Given the description of an element on the screen output the (x, y) to click on. 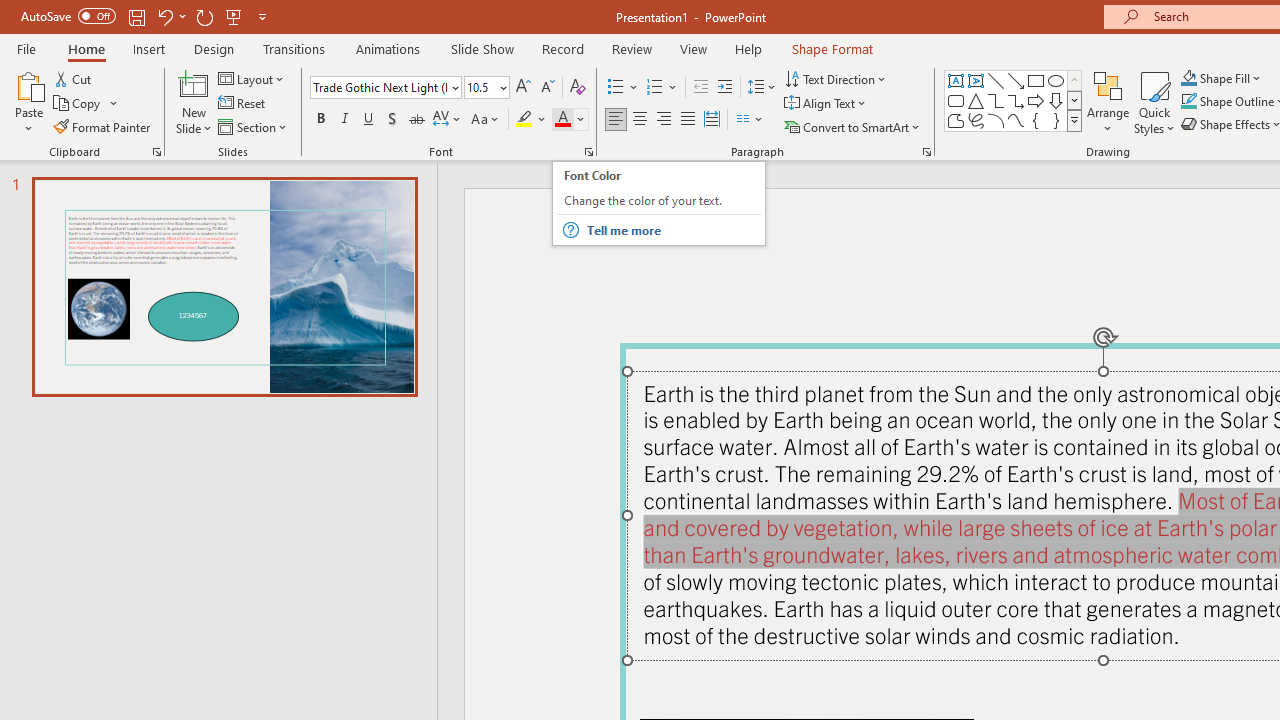
Shape Fill Aqua, Accent 2 (1188, 78)
